Given the description of an element on the screen output the (x, y) to click on. 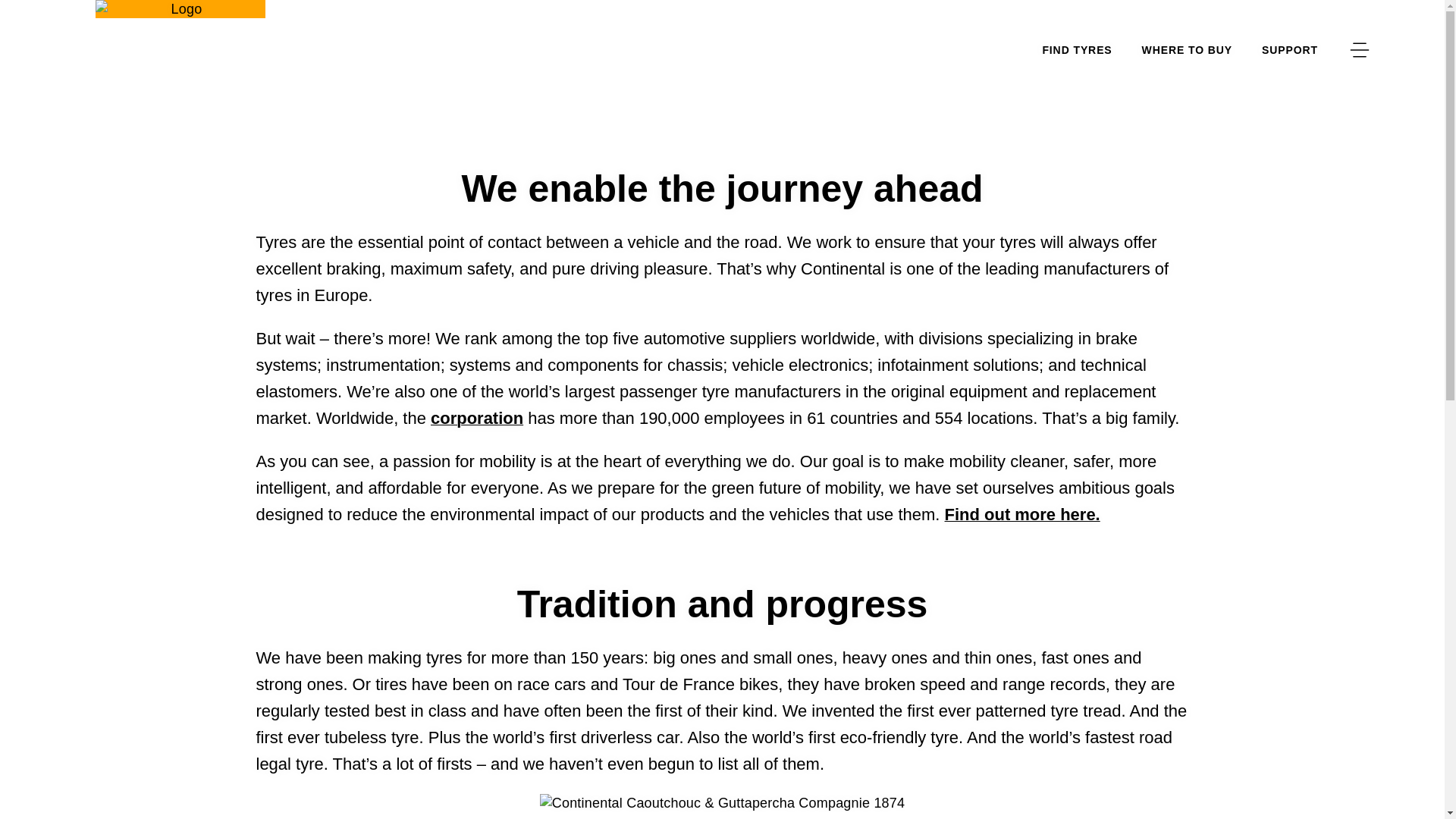
FIND TYRES (1077, 49)
SUPPORT (1289, 49)
WHERE TO BUY (1186, 49)
Continental 1874 (722, 802)
